Given the description of an element on the screen output the (x, y) to click on. 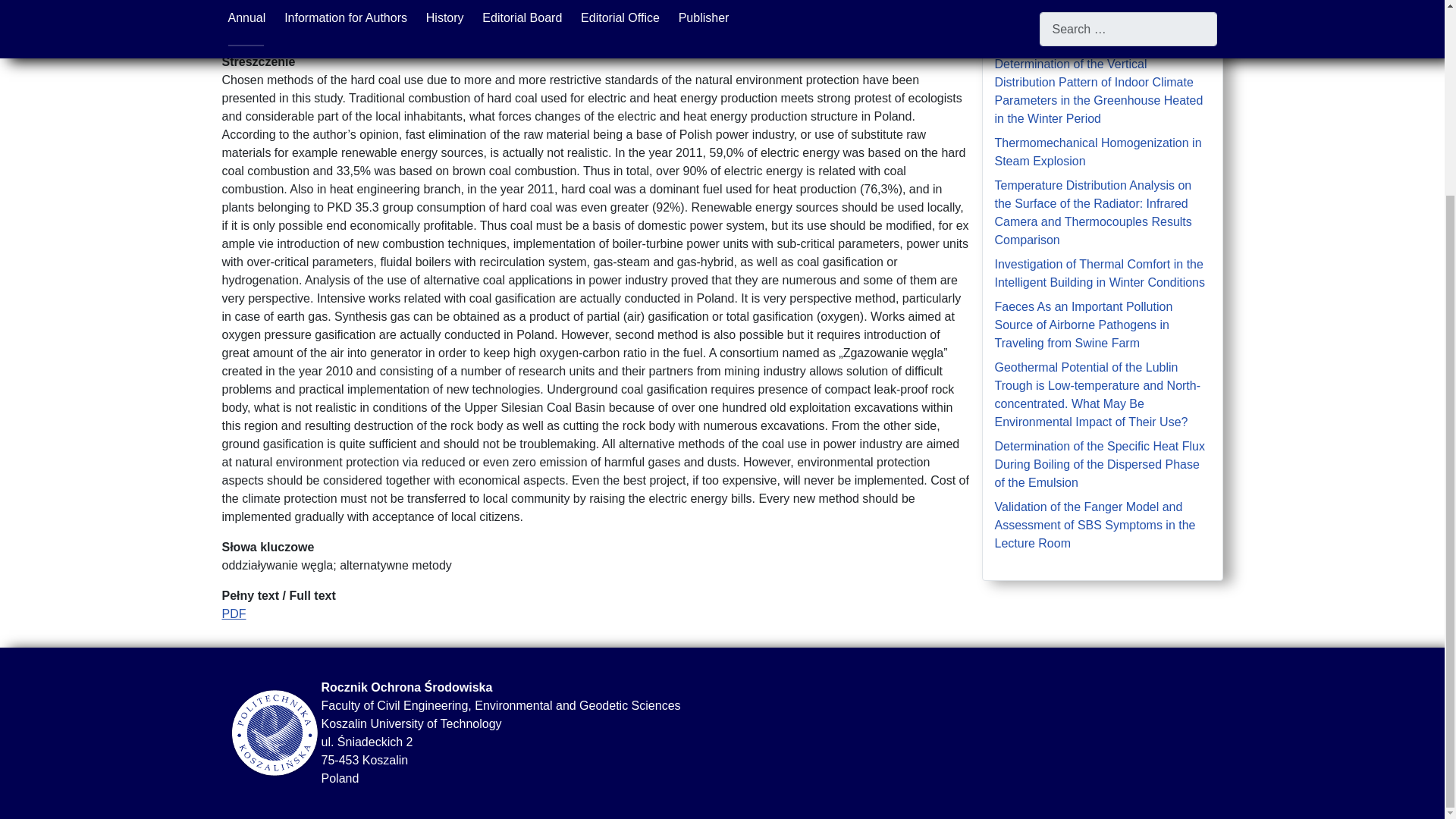
Thermomechanical Homogenization in Steam Explosion (1098, 151)
PDF (233, 613)
